Given the description of an element on the screen output the (x, y) to click on. 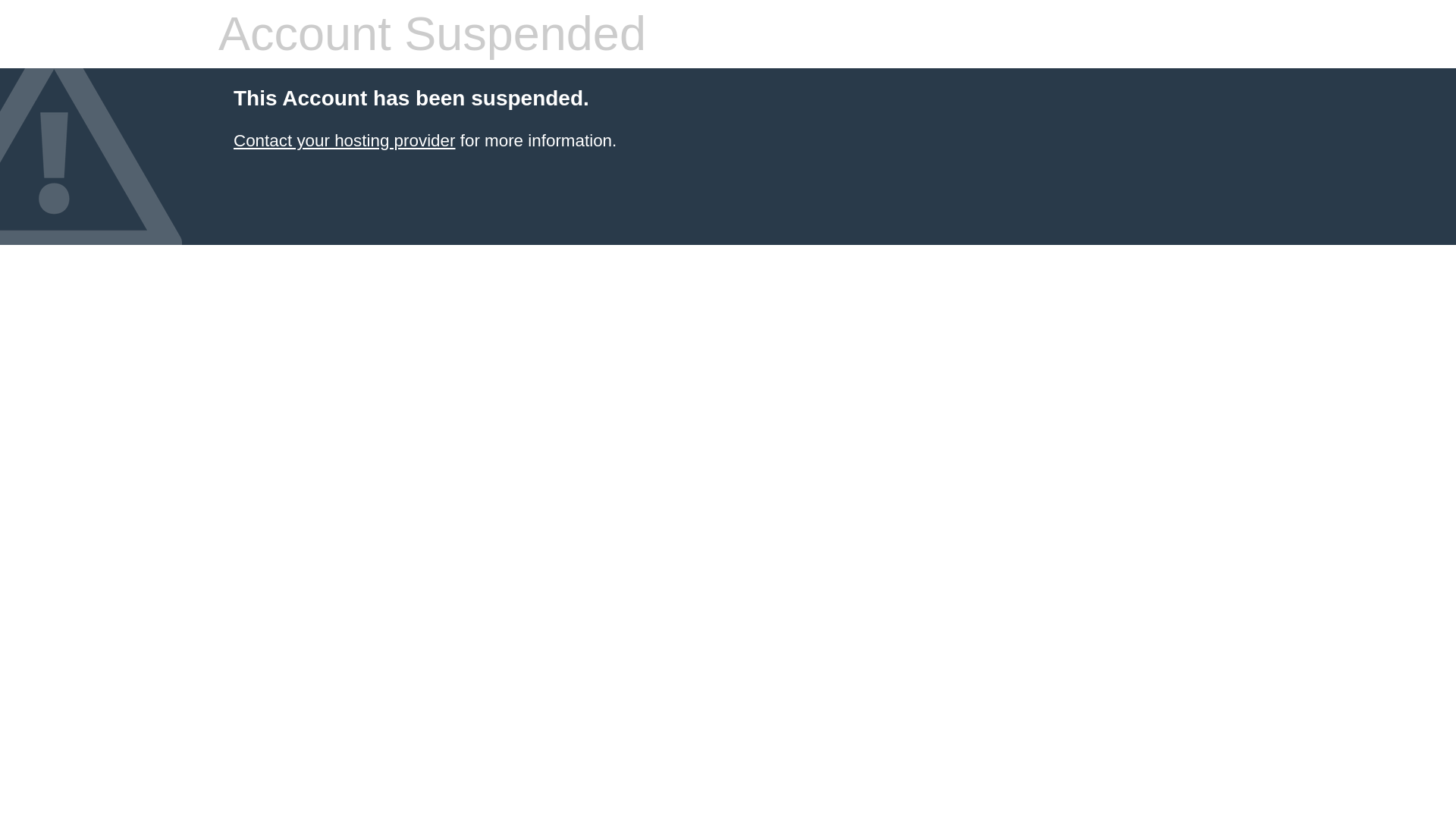
Contact your hosting provider (343, 140)
